Given the description of an element on the screen output the (x, y) to click on. 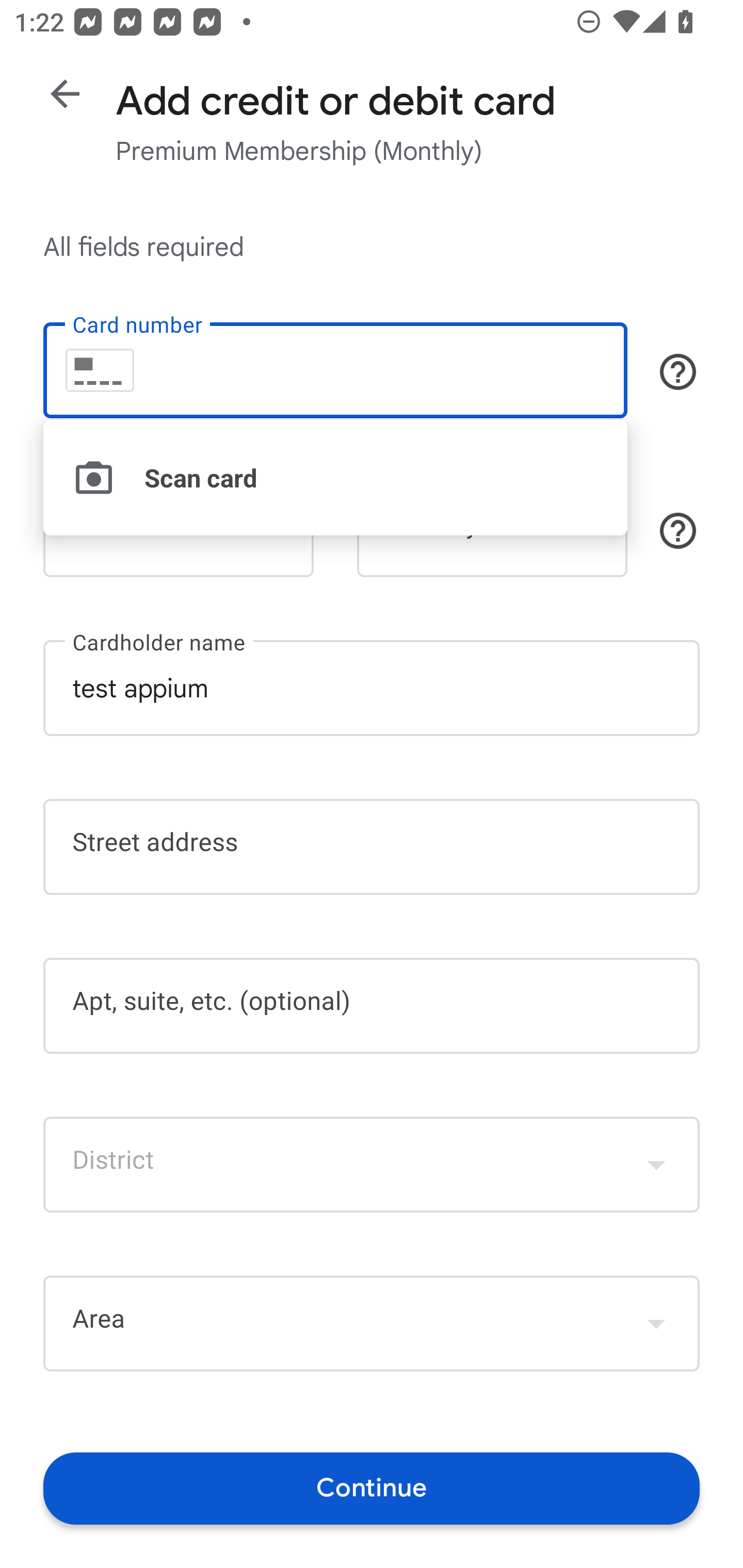
Back (64, 93)
Card number (335, 370)
Button, shows cards that are accepted for payment (677, 371)
Security code help (677, 530)
test appium (371, 687)
Street address (371, 847)
Apt, suite, etc. (optional) (371, 1005)
District (371, 1164)
Show dropdown menu (655, 1164)
Area (371, 1323)
Show dropdown menu (655, 1323)
Continue (371, 1487)
